Given the description of an element on the screen output the (x, y) to click on. 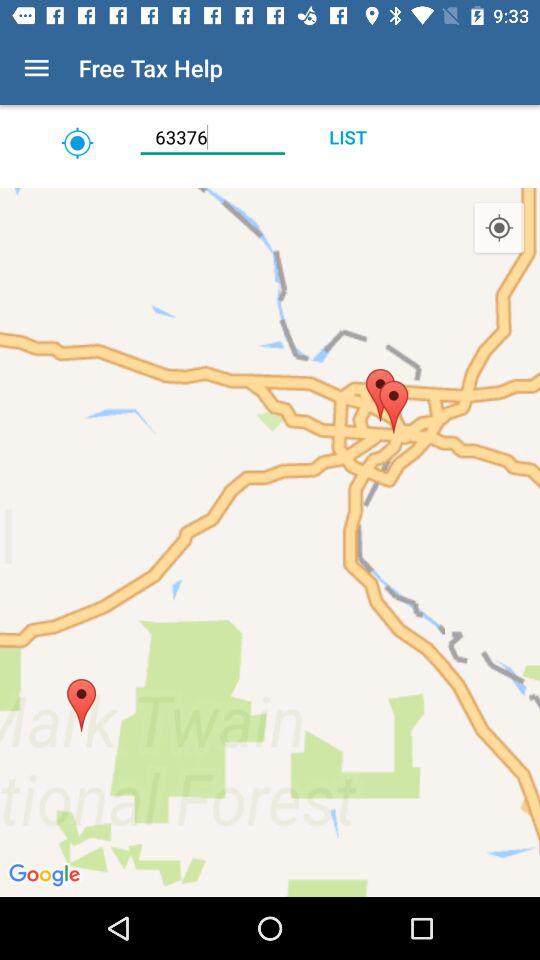
turn on the item at the center (270, 541)
